Given the description of an element on the screen output the (x, y) to click on. 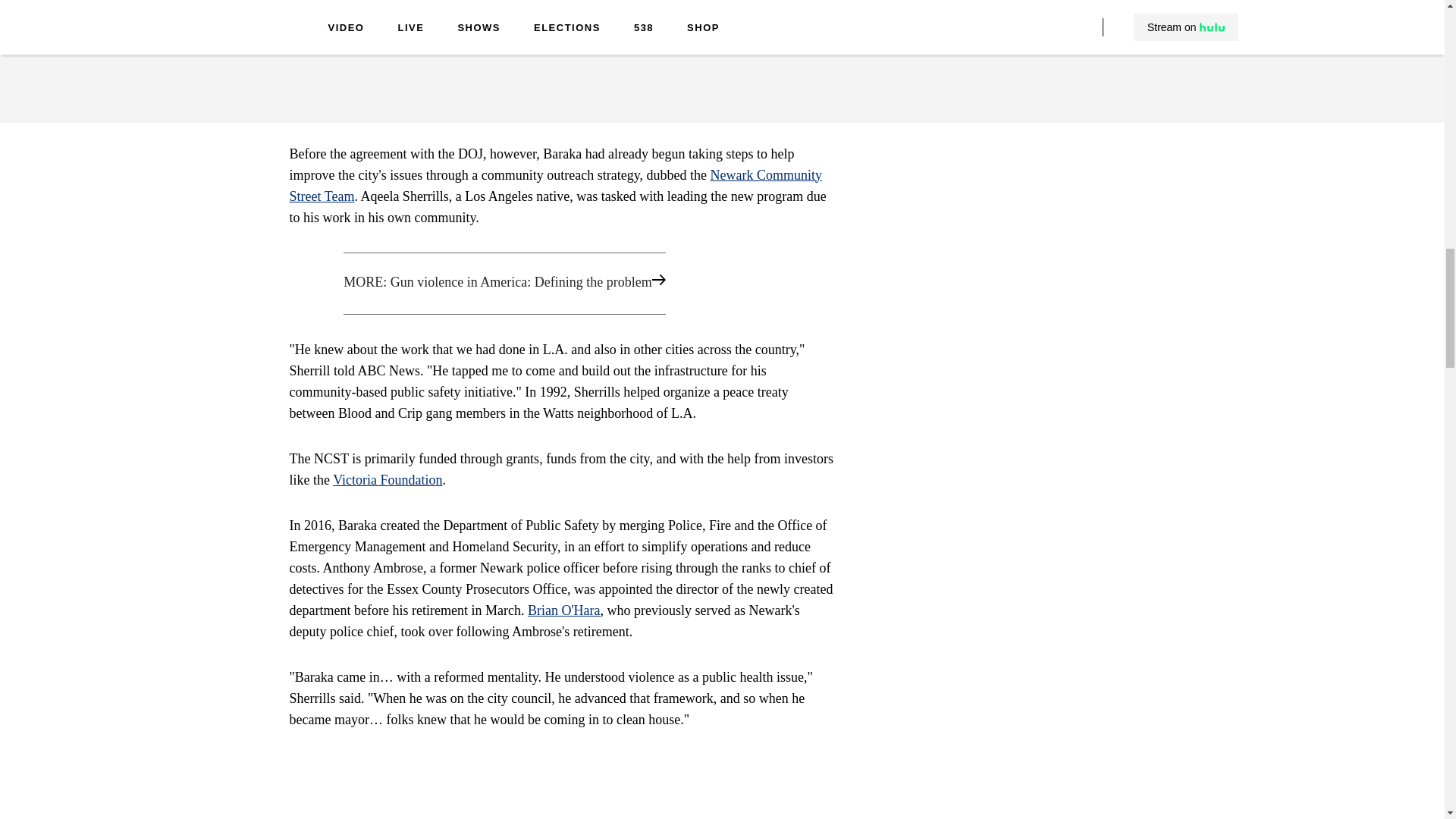
Brian O'Hara (563, 610)
Victoria Foundation (387, 479)
MORE: Gun violence in America: Defining the problem (560, 283)
Newark Community Street Team (555, 185)
